Given the description of an element on the screen output the (x, y) to click on. 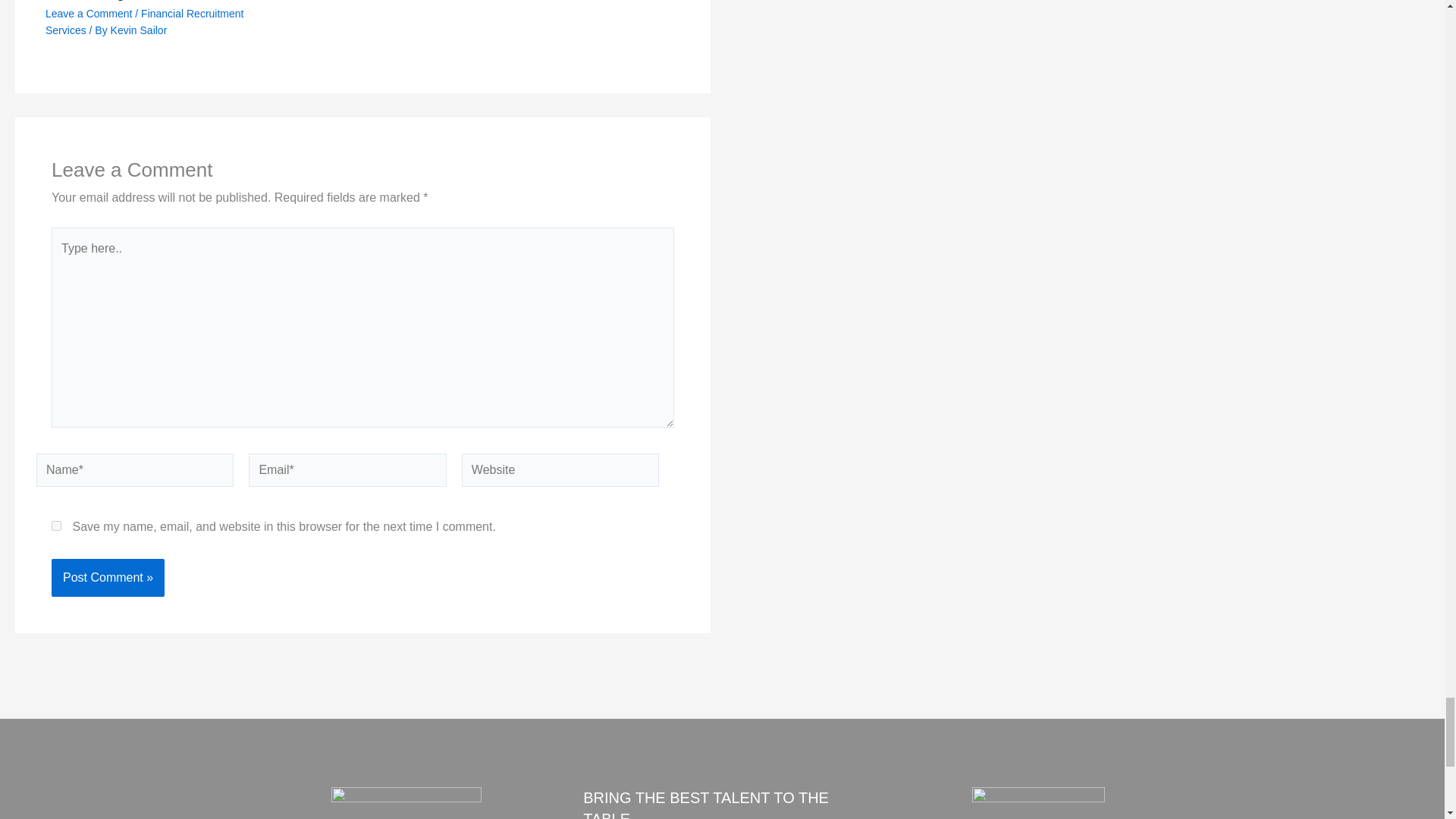
View all posts by Kevin Sailor (138, 30)
yes (55, 524)
